Given the description of an element on the screen output the (x, y) to click on. 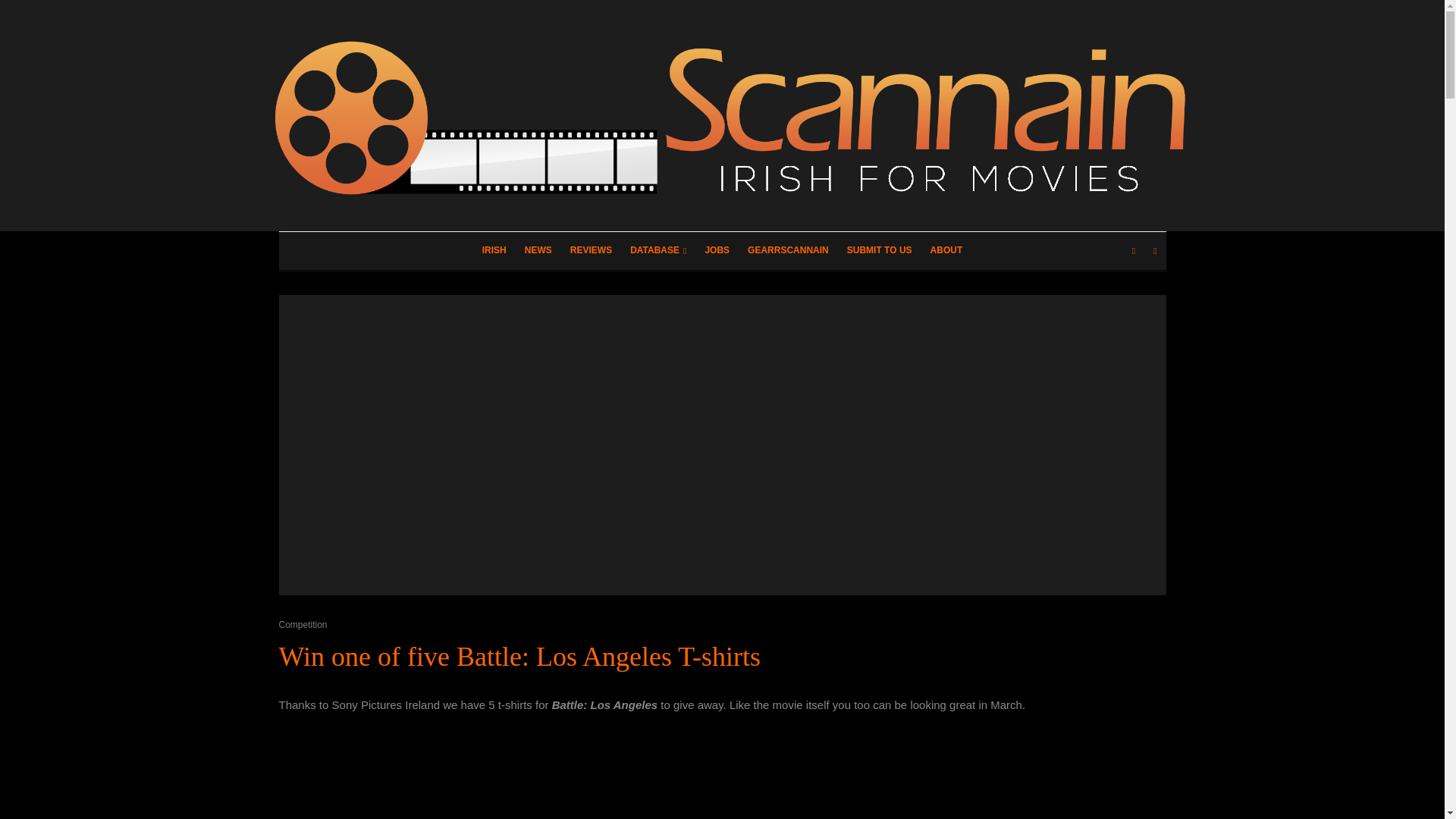
DATABASE (658, 250)
REVIEWS (590, 250)
IRISH (494, 250)
NEWS (537, 250)
